Given the description of an element on the screen output the (x, y) to click on. 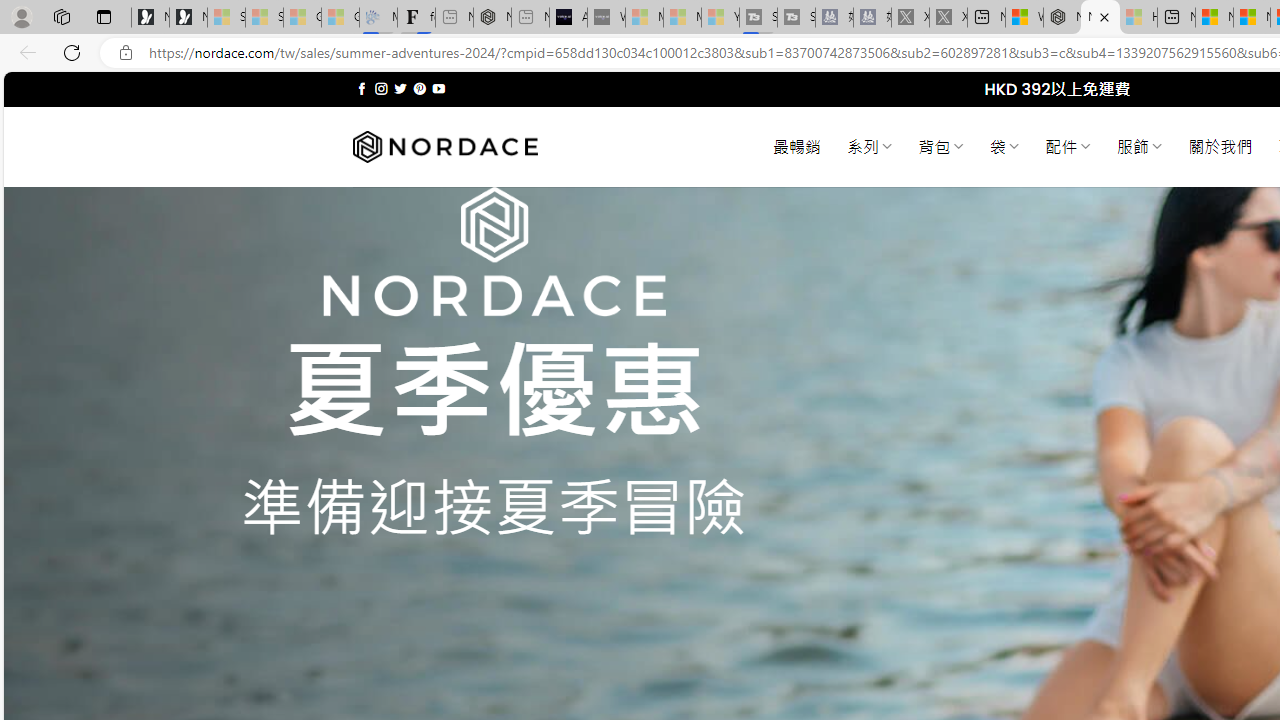
Follow on Pinterest (419, 88)
Microsoft Start Sports - Sleeping (644, 17)
Follow on YouTube (438, 88)
